Given the description of an element on the screen output the (x, y) to click on. 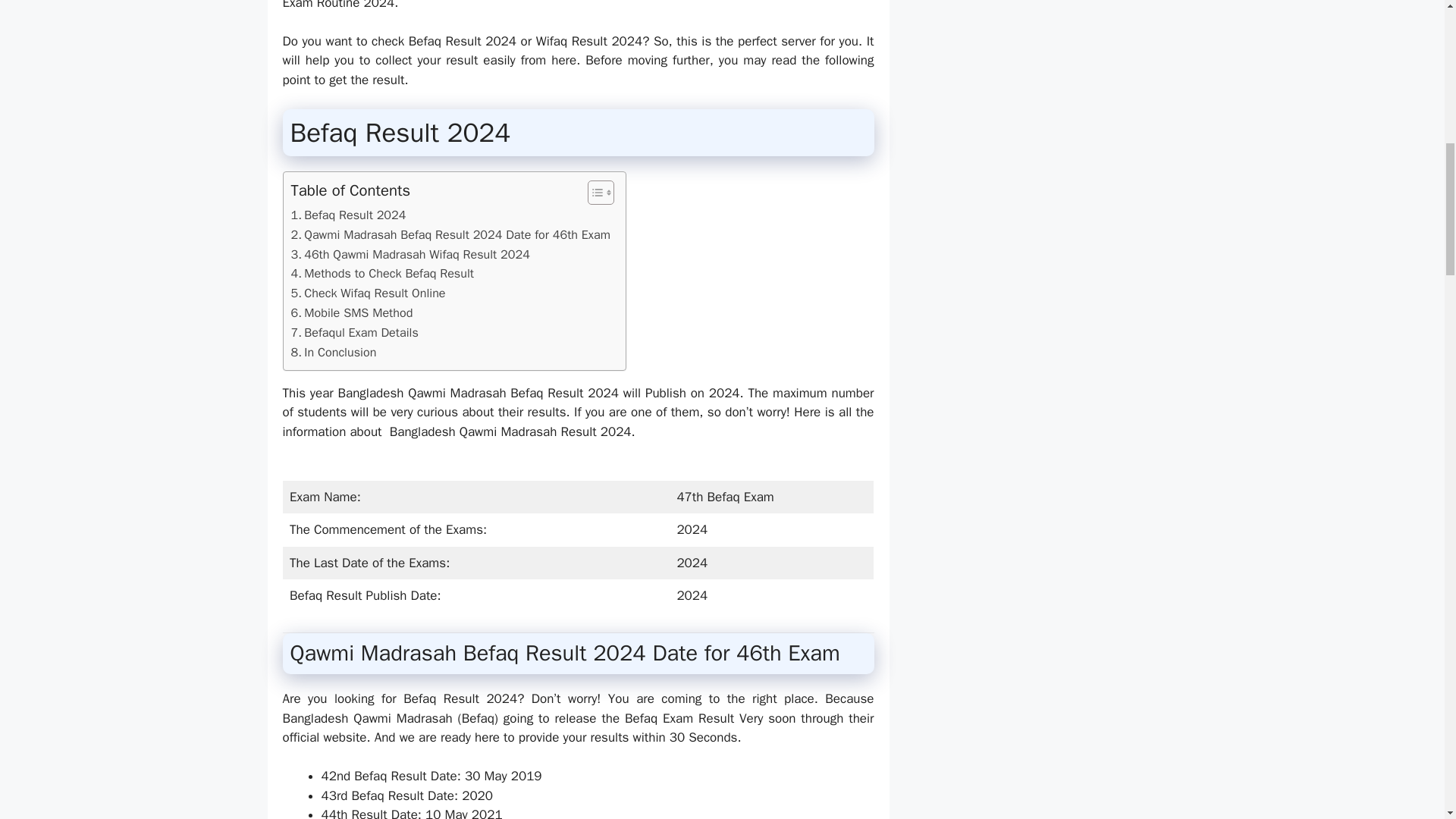
Befaq Result 2024 (348, 215)
Check Wifaq Result Online (368, 293)
Methods to Check Befaq Result (382, 273)
In Conclusion (334, 352)
Methods to Check Befaq Result (382, 273)
Check Wifaq Result Online (368, 293)
Qawmi Madrasah Befaq Result 2024 Date for 46th Exam (450, 234)
Befaq Result 2024 (348, 215)
Befaqul Exam Details (355, 332)
46th Qawmi Madrasah Wifaq Result 2024 (410, 254)
